Given the description of an element on the screen output the (x, y) to click on. 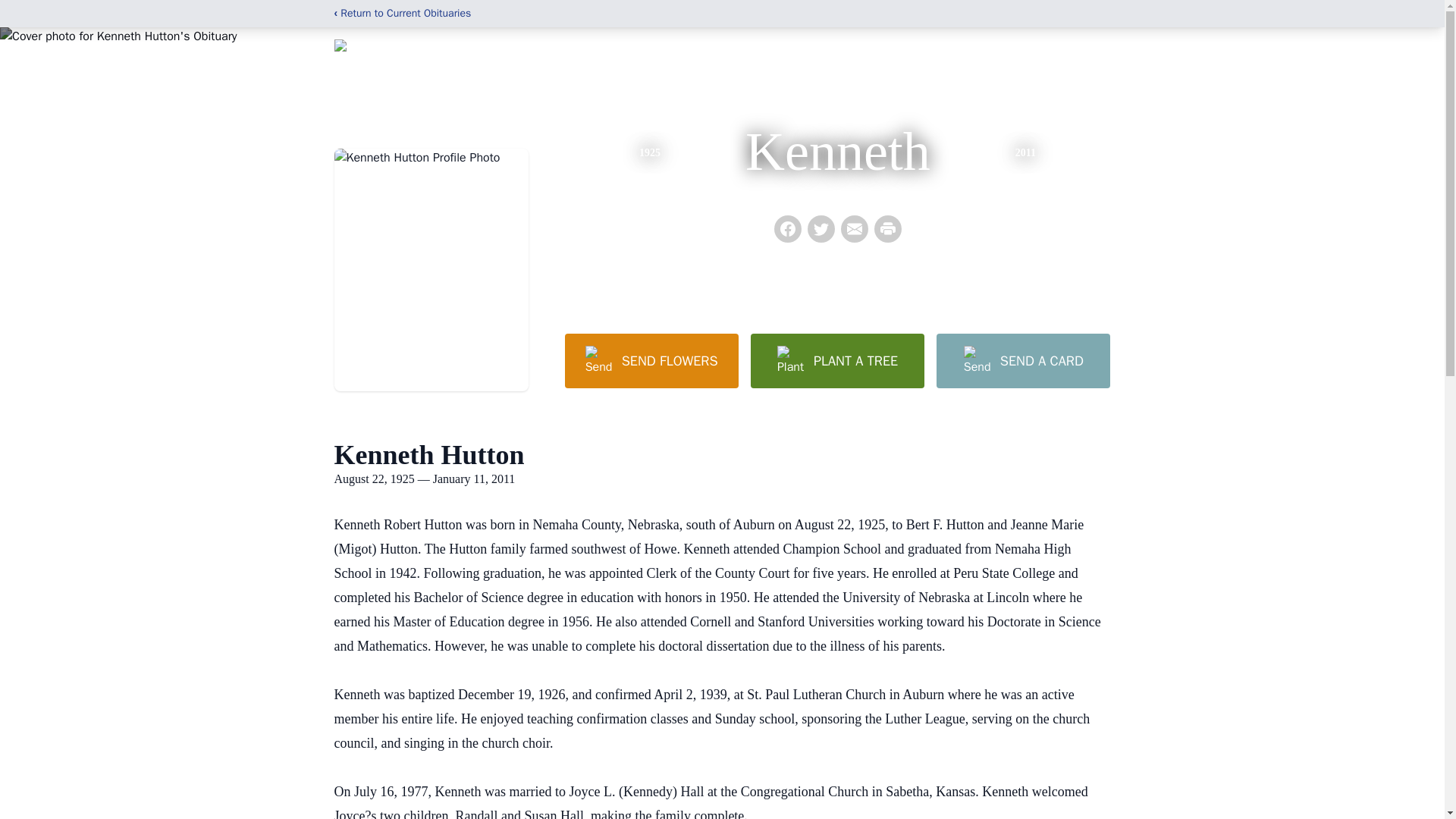
SEND A CARD (1022, 360)
SEND FLOWERS (651, 360)
PLANT A TREE (837, 360)
